Given the description of an element on the screen output the (x, y) to click on. 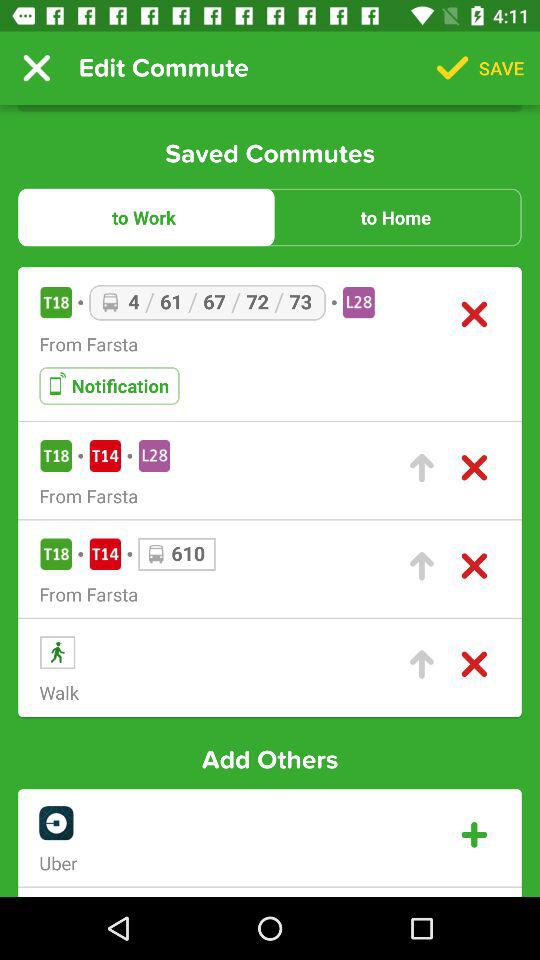
select icon to the left of edit commute (36, 68)
